Given the description of an element on the screen output the (x, y) to click on. 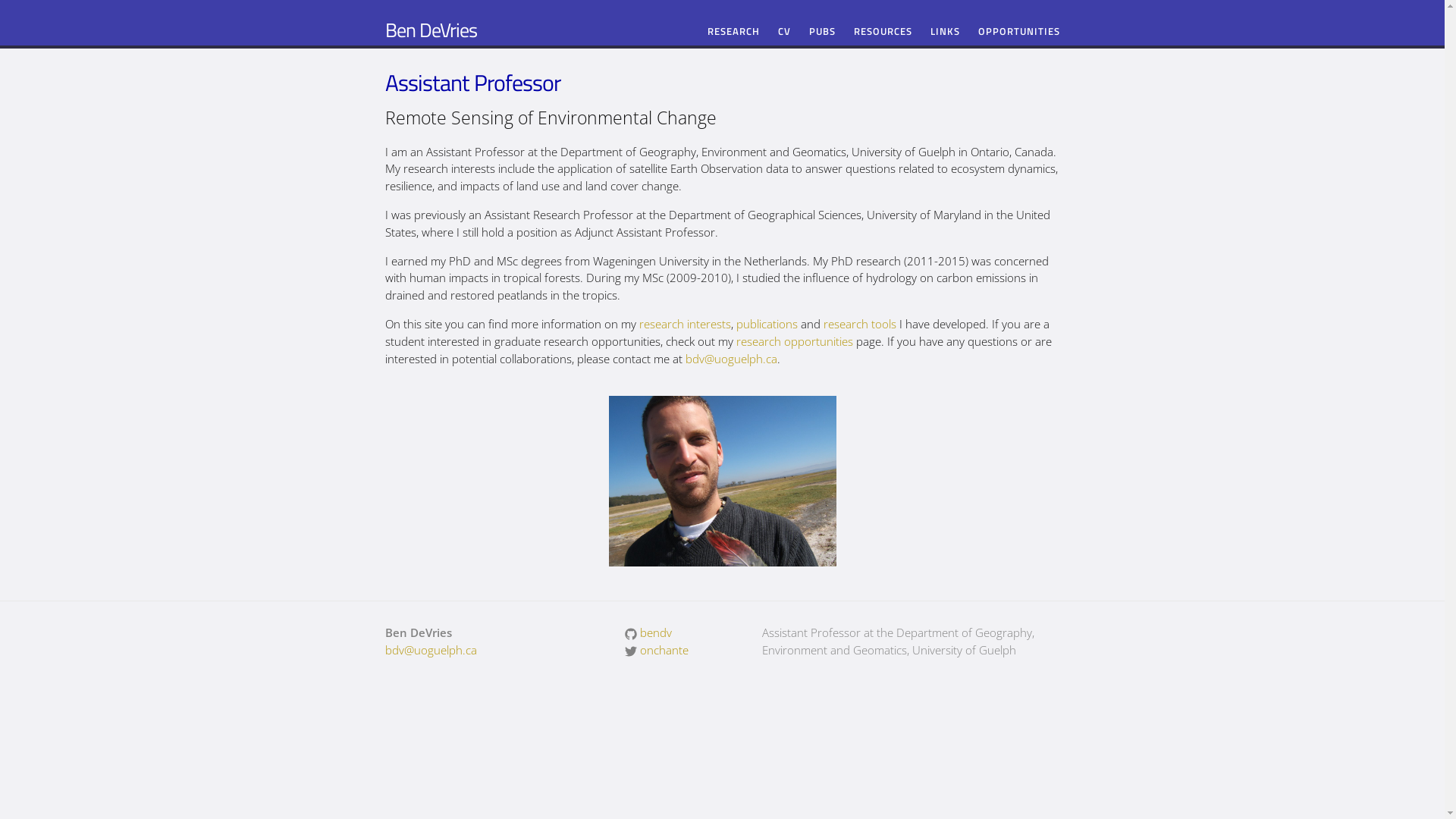
research tools Element type: text (859, 323)
CV Element type: text (784, 31)
OPPORTUNITIES Element type: text (1019, 31)
research opportunities Element type: text (793, 340)
research interests Element type: text (684, 323)
bendv Element type: text (647, 632)
Ben DeVries Element type: text (430, 29)
bdv@uoguelph.ca Element type: text (731, 358)
publications Element type: text (766, 323)
RESEARCH Element type: text (732, 31)
bdv@uoguelph.ca Element type: text (430, 649)
onchante Element type: text (656, 649)
RESOURCES Element type: text (882, 31)
PUBS Element type: text (821, 31)
LINKS Element type: text (944, 31)
